Given the description of an element on the screen output the (x, y) to click on. 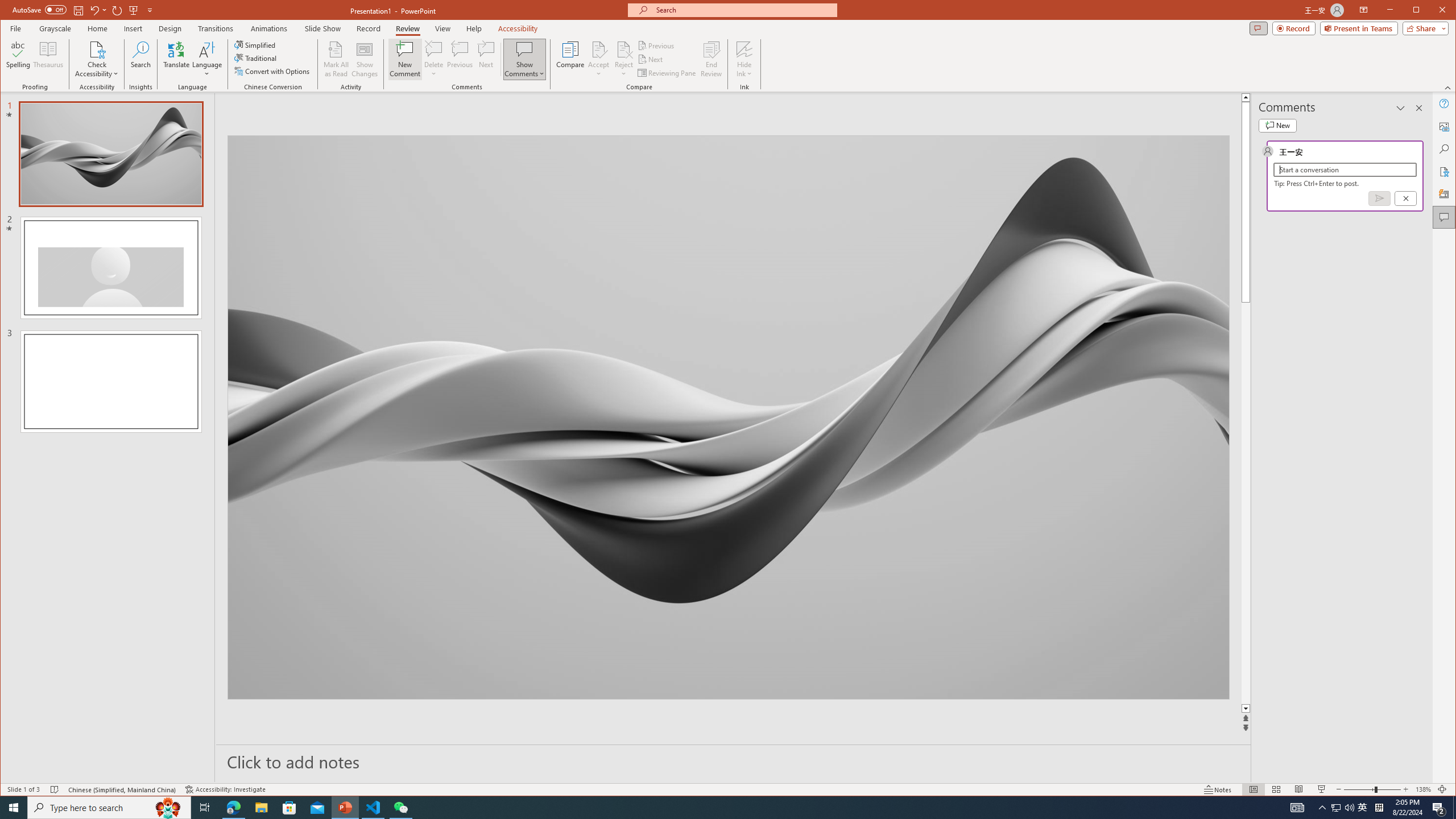
End Review (710, 59)
